Given the description of an element on the screen output the (x, y) to click on. 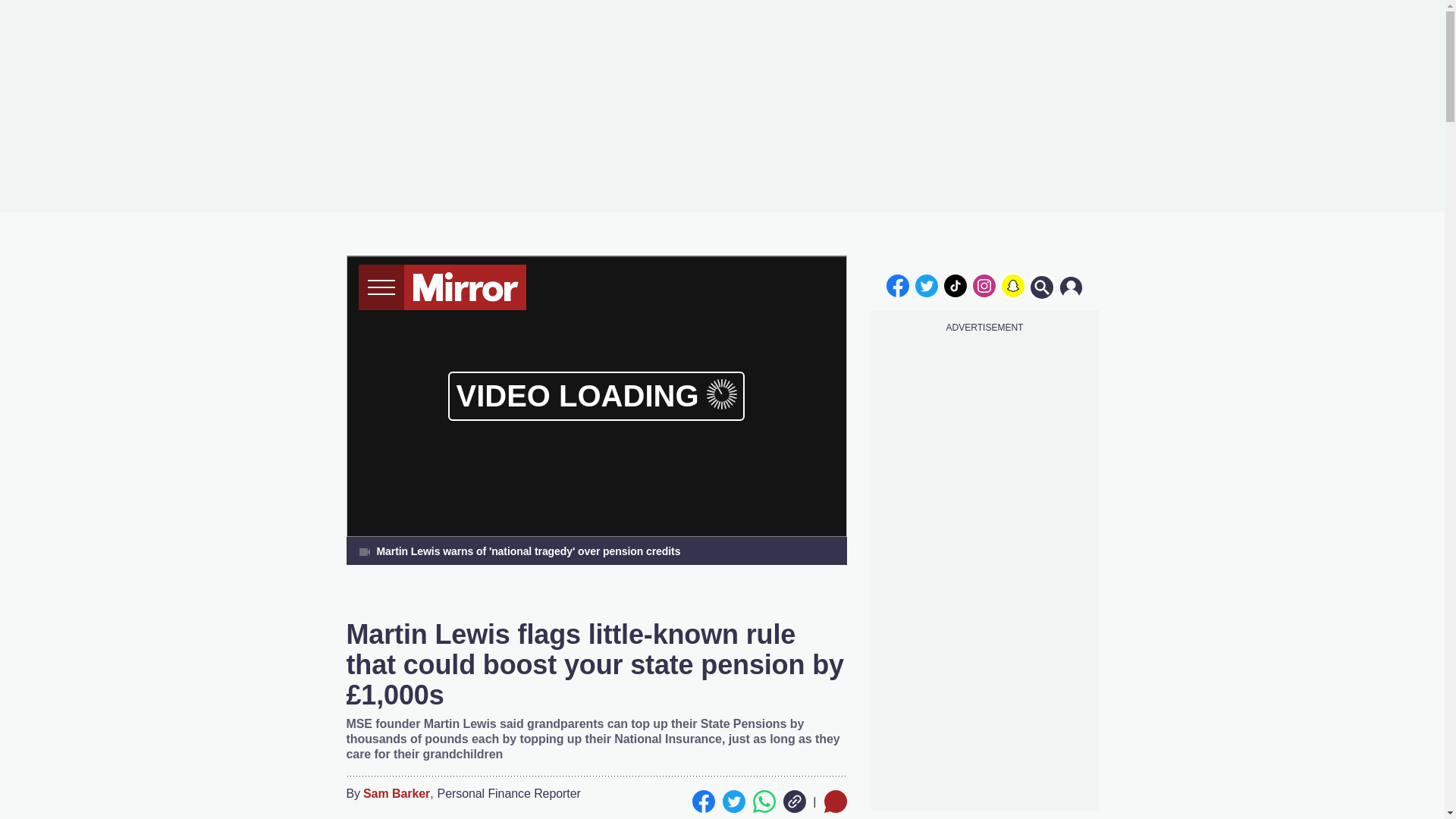
tiktok (955, 285)
Sam Barker (395, 794)
snapchat (1012, 285)
Comments (834, 801)
Twitter (733, 801)
Whatsapp (763, 801)
facebook (897, 285)
instagram (984, 285)
Facebook (702, 801)
twitter (926, 285)
